Given the description of an element on the screen output the (x, y) to click on. 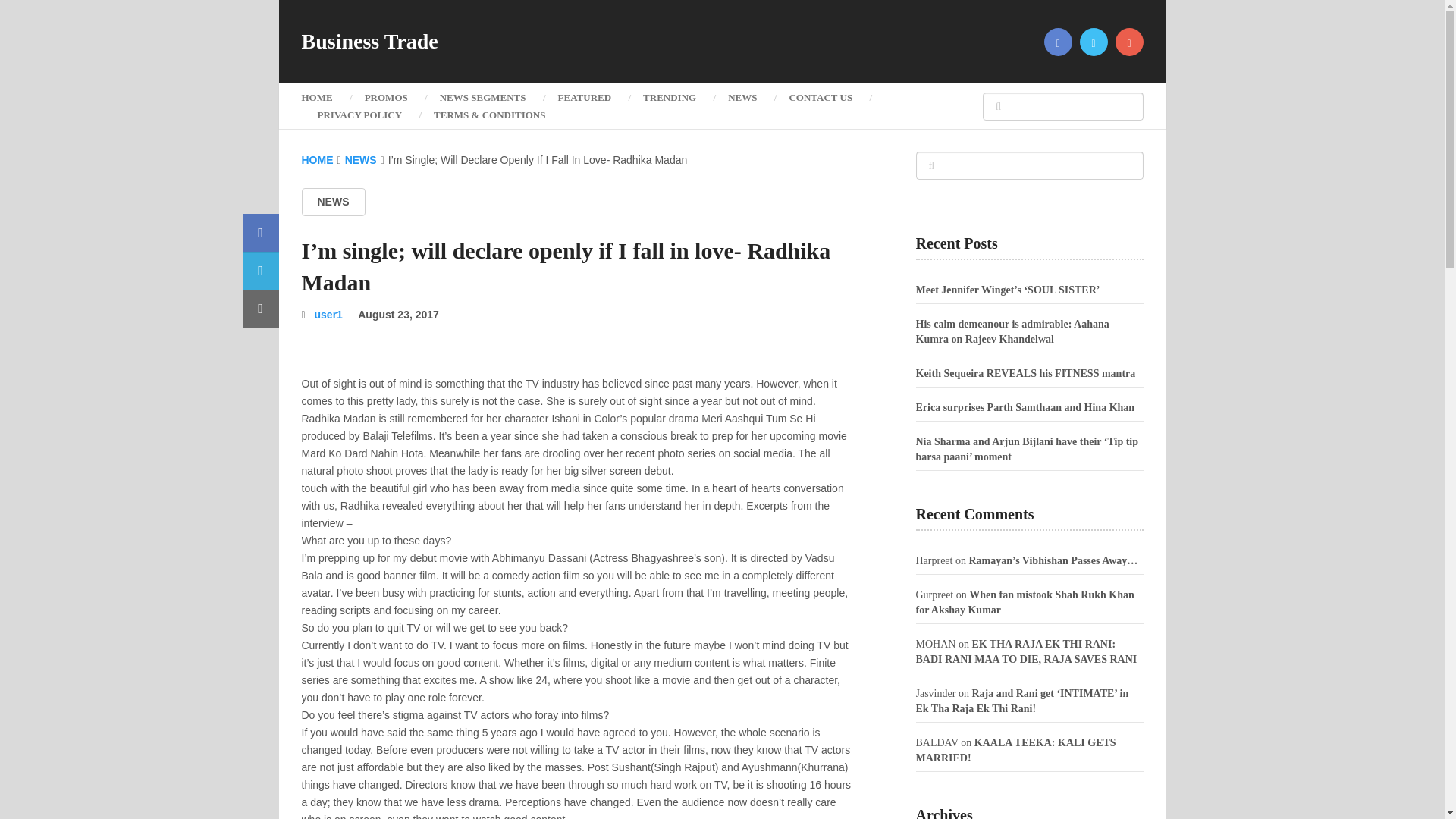
View all posts in News (333, 202)
Business Trade (369, 41)
HOME (325, 97)
HOME (317, 159)
KAALA TEEKA: KALI GETS MARRIED! (1015, 750)
When fan mistook Shah Rukh Khan for Akshay Kumar (1024, 601)
NEWS (333, 202)
PRIVACY POLICY (360, 114)
user1 (328, 314)
NEWS (361, 159)
